Given the description of an element on the screen output the (x, y) to click on. 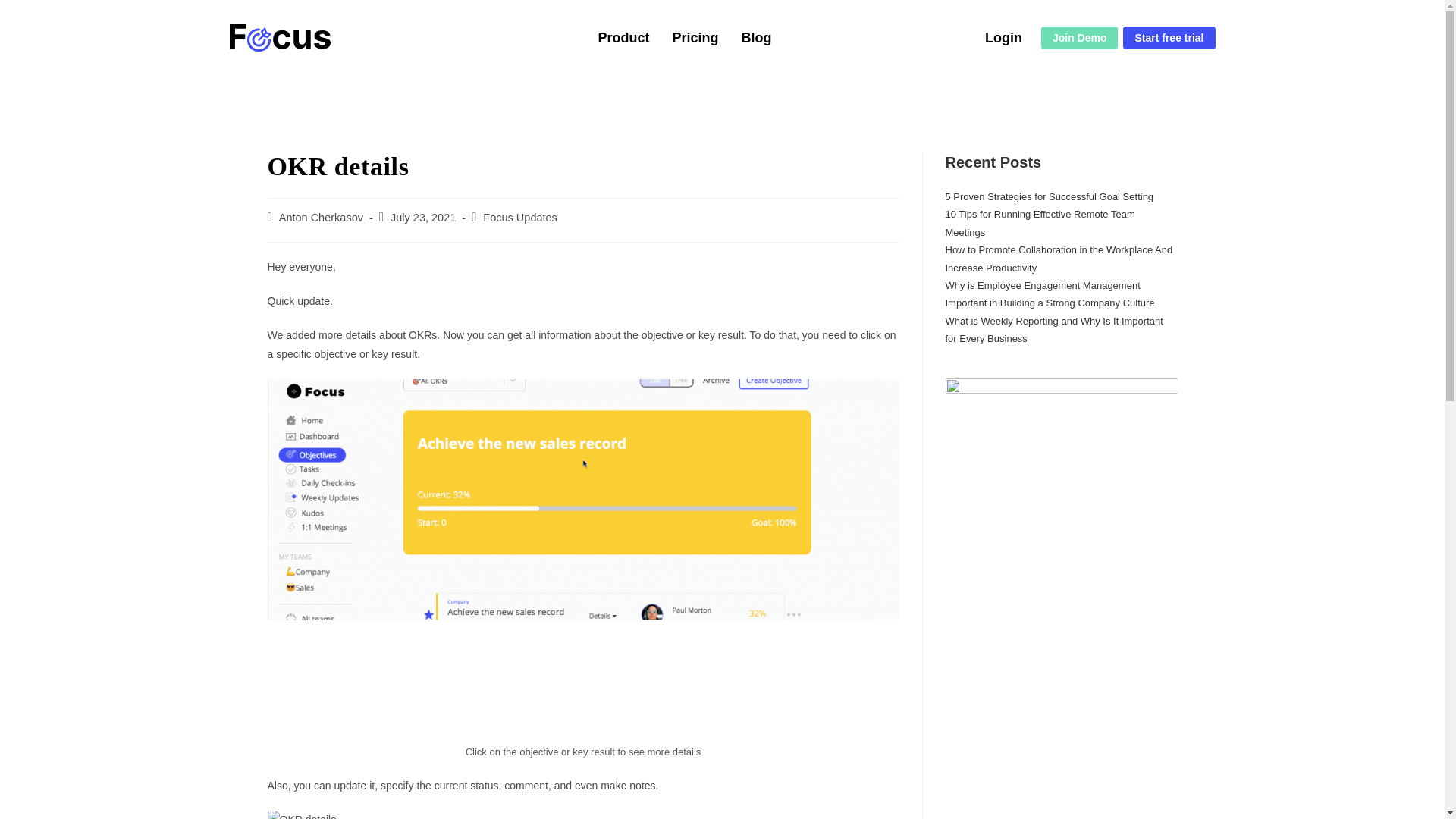
Login (1003, 37)
Pricing (694, 37)
Join Demo (1079, 37)
Product (622, 37)
Posts by Anton Cherkasov (320, 217)
Blog (756, 37)
5 Proven Strategies for Successful Goal Setting (1048, 196)
Start free trial (1168, 37)
10 Tips for Running Effective Remote Team Meetings (1039, 222)
Anton Cherkasov (320, 217)
Focus Updates (520, 217)
